Given the description of an element on the screen output the (x, y) to click on. 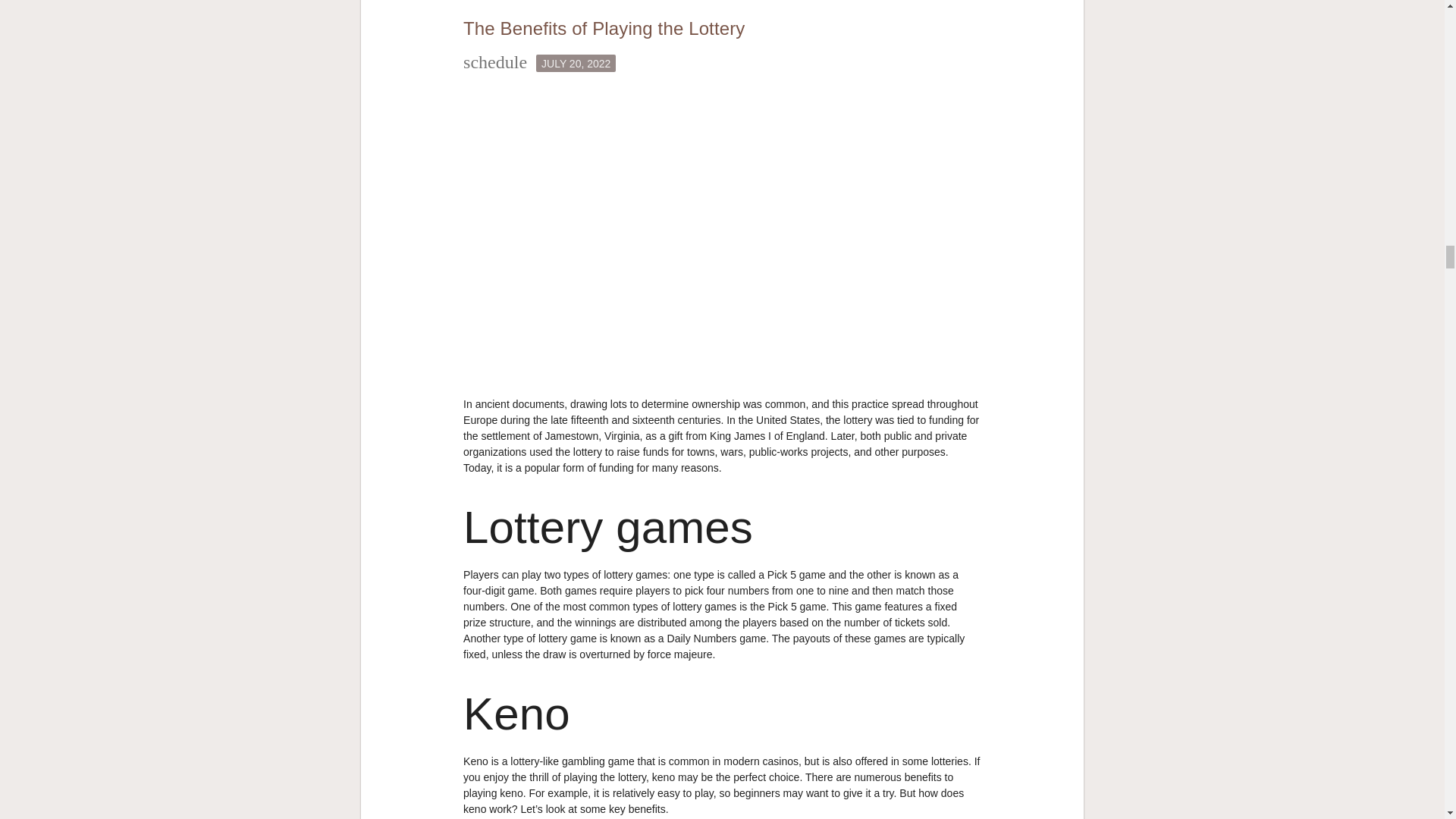
The Benefits of Playing the Lottery (603, 28)
JULY 20, 2022 (575, 63)
